Given the description of an element on the screen output the (x, y) to click on. 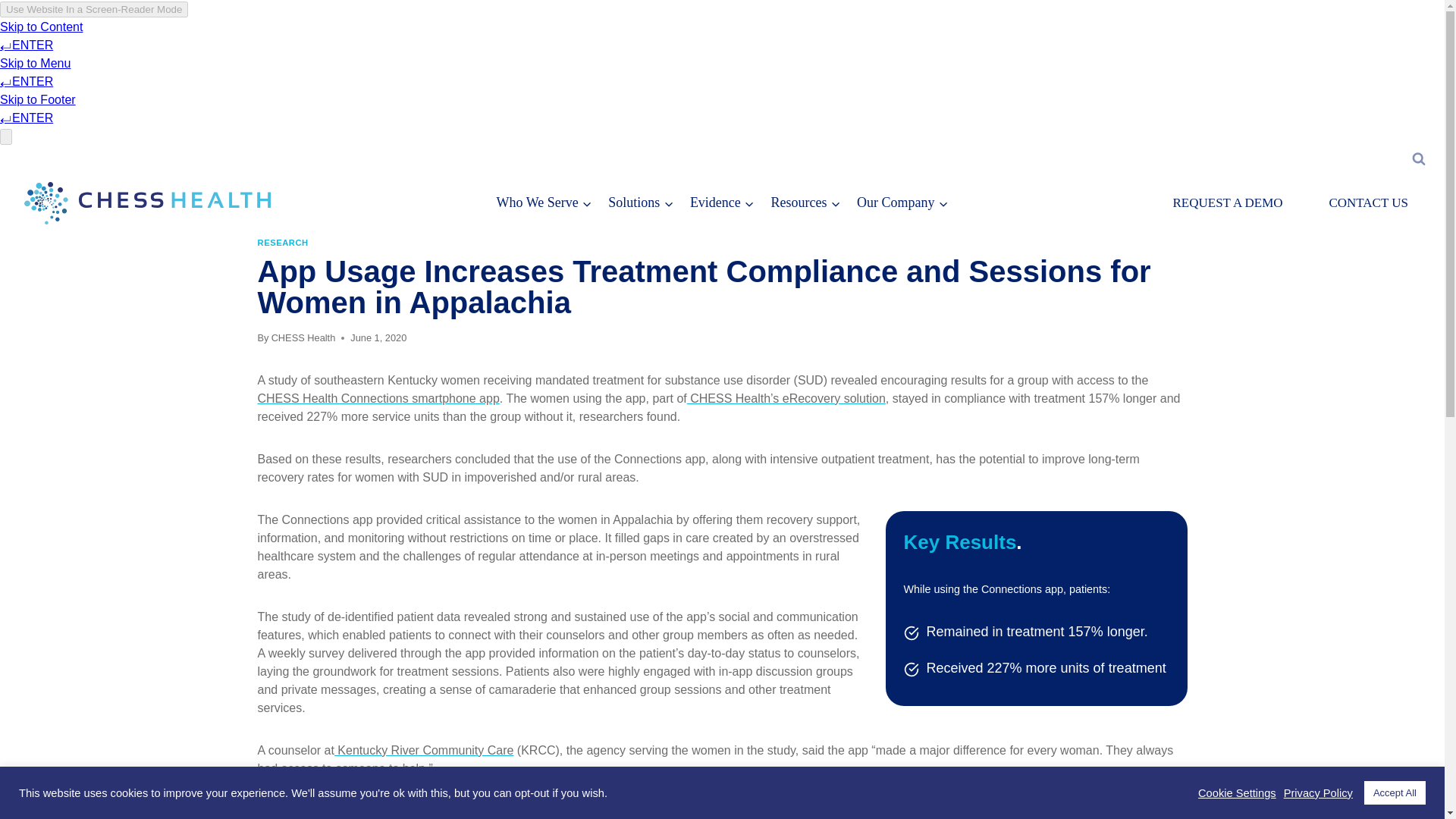
Evidence (721, 202)
Our Company (902, 202)
Solutions dropdown menu (640, 202)
CHESS Health (303, 337)
RESEARCH (282, 242)
Solutions (640, 202)
Resources (805, 202)
CONTACT US (1368, 203)
Customers dropdown menu (543, 202)
Who We Serve (543, 202)
